Given the description of an element on the screen output the (x, y) to click on. 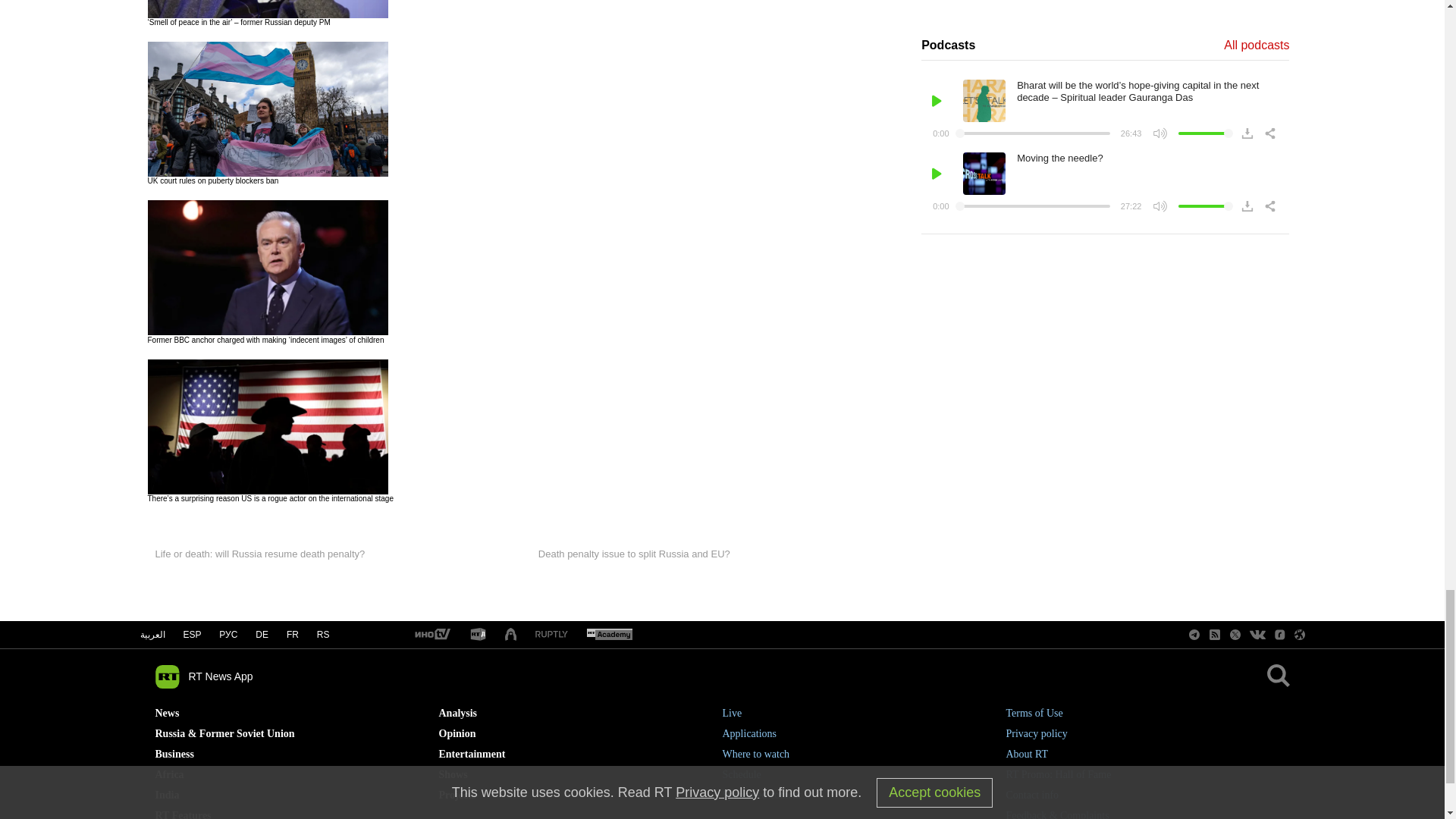
RT  (478, 635)
RT  (608, 634)
RT  (551, 634)
RT  (431, 634)
